Given the description of an element on the screen output the (x, y) to click on. 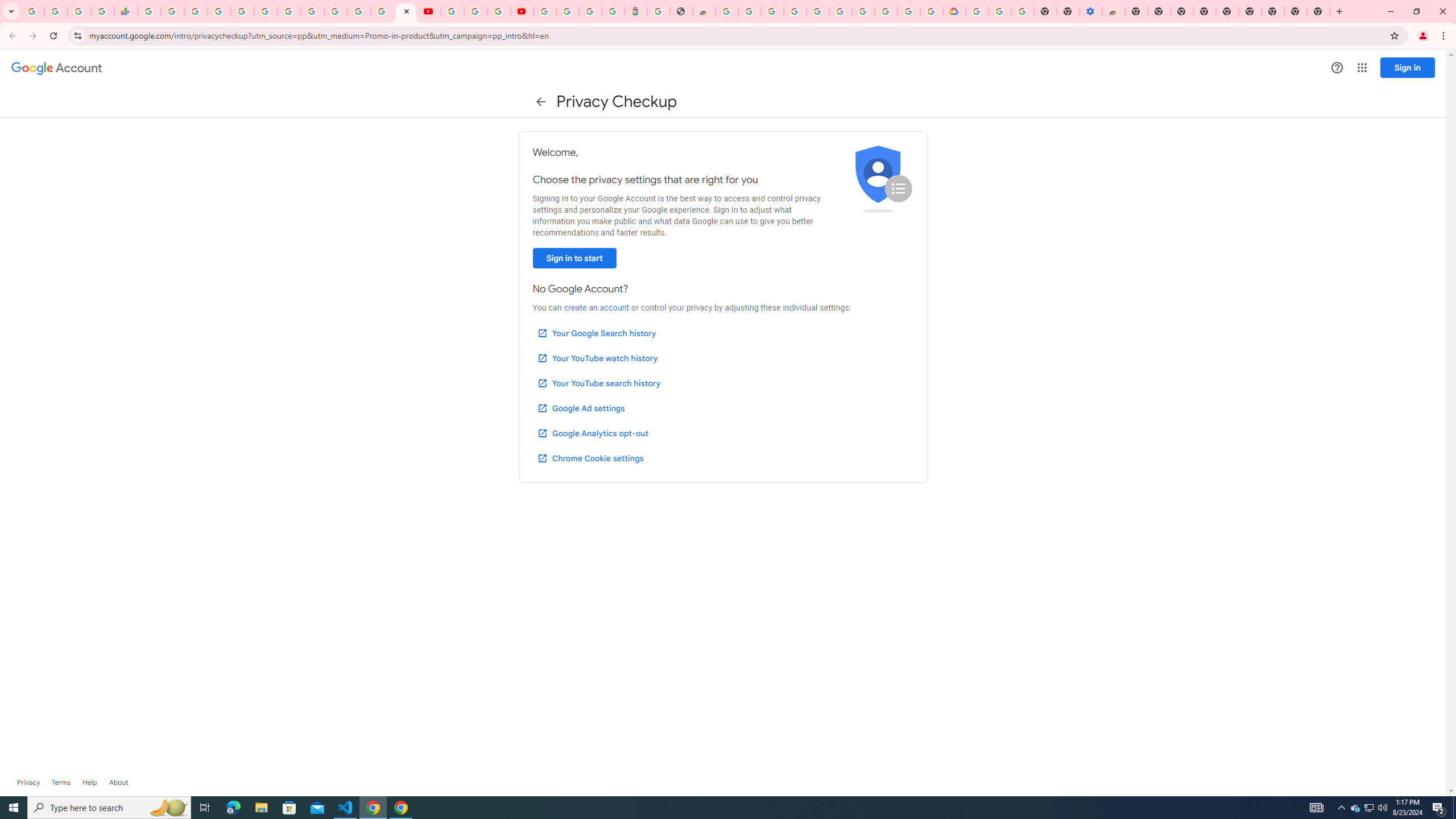
Sign in - Google Accounts (817, 11)
Your Google Search history (596, 332)
Your YouTube watch history (597, 358)
Browse the Google Chrome Community - Google Chrome Community (931, 11)
Google Account settings (56, 68)
Sign in - Google Accounts (545, 11)
Sign in - Google Accounts (335, 11)
Sign in - Google Accounts (381, 11)
Chrome Web Store - Accessibility extensions (1113, 11)
